Given the description of an element on the screen output the (x, y) to click on. 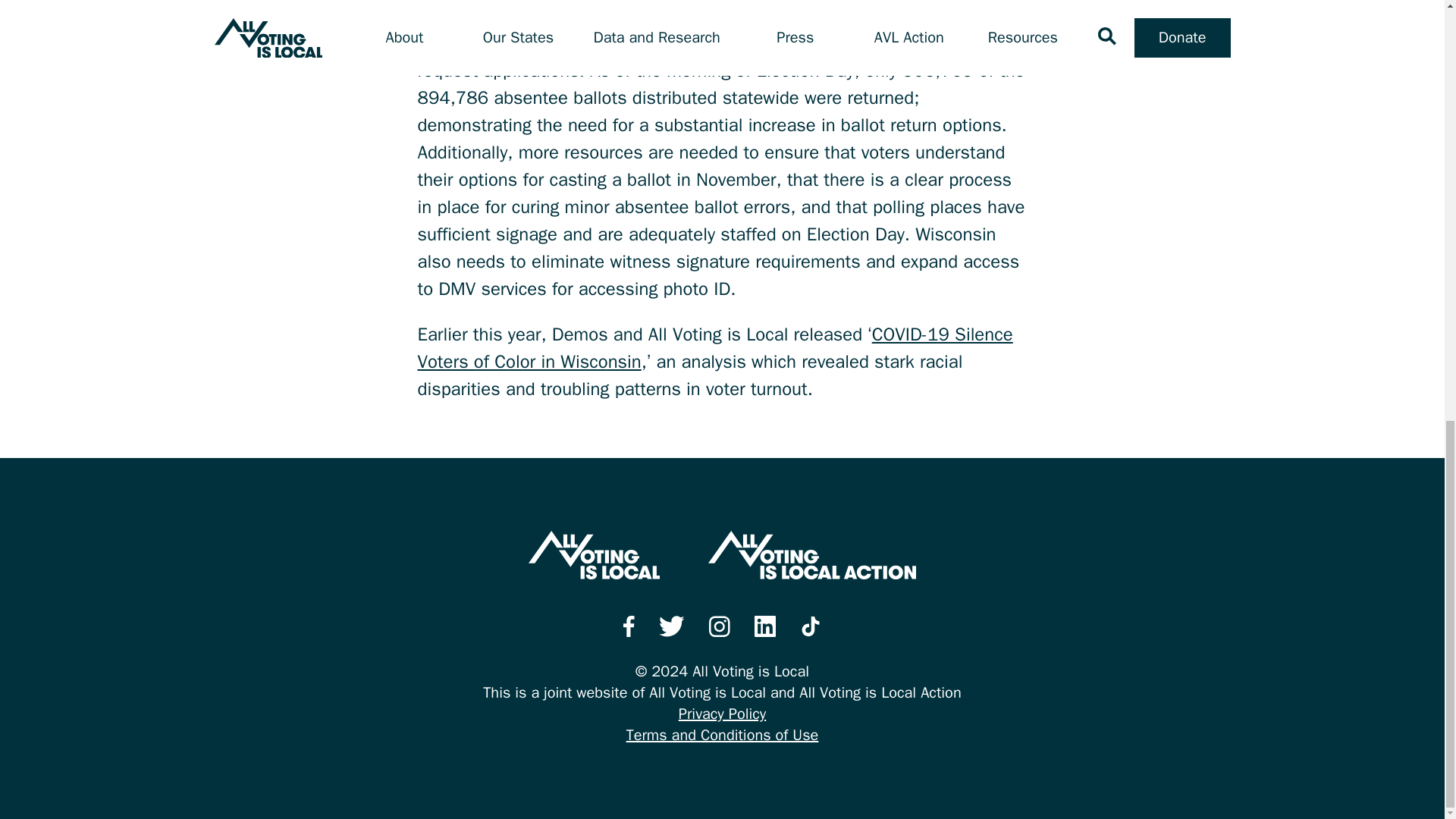
Twitter (671, 626)
COVID-19 Silence Voters of Color in Wisconsin (713, 347)
Facebook (628, 626)
Instagram (719, 626)
